Given the description of an element on the screen output the (x, y) to click on. 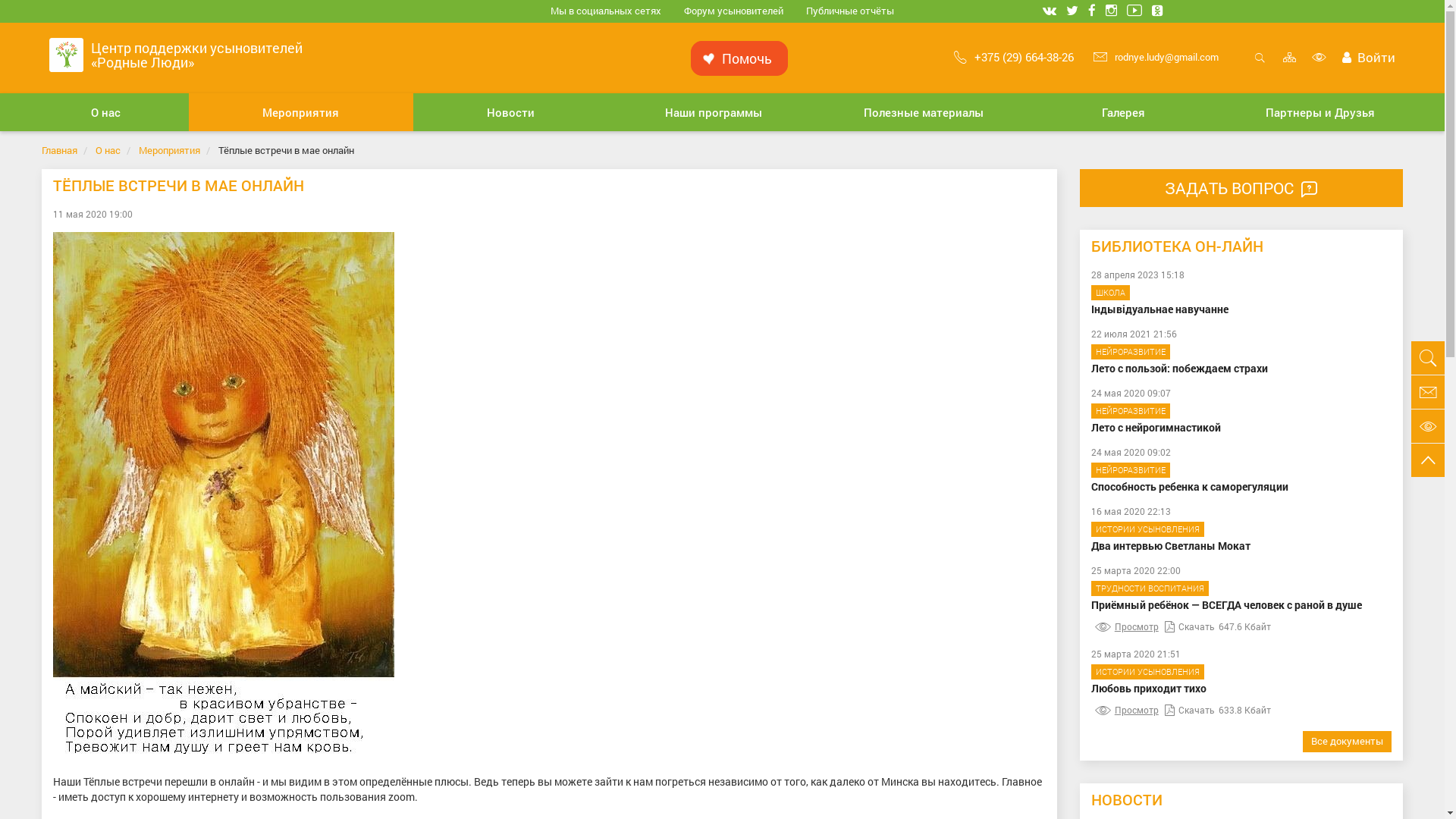
rodnye.ludy@gmail.com Element type: text (1427, 391)
+375 (29) 664-38-26 Element type: text (1013, 56)
rodnye.ludy@gmail.com Element type: text (1155, 56)
